Given the description of an element on the screen output the (x, y) to click on. 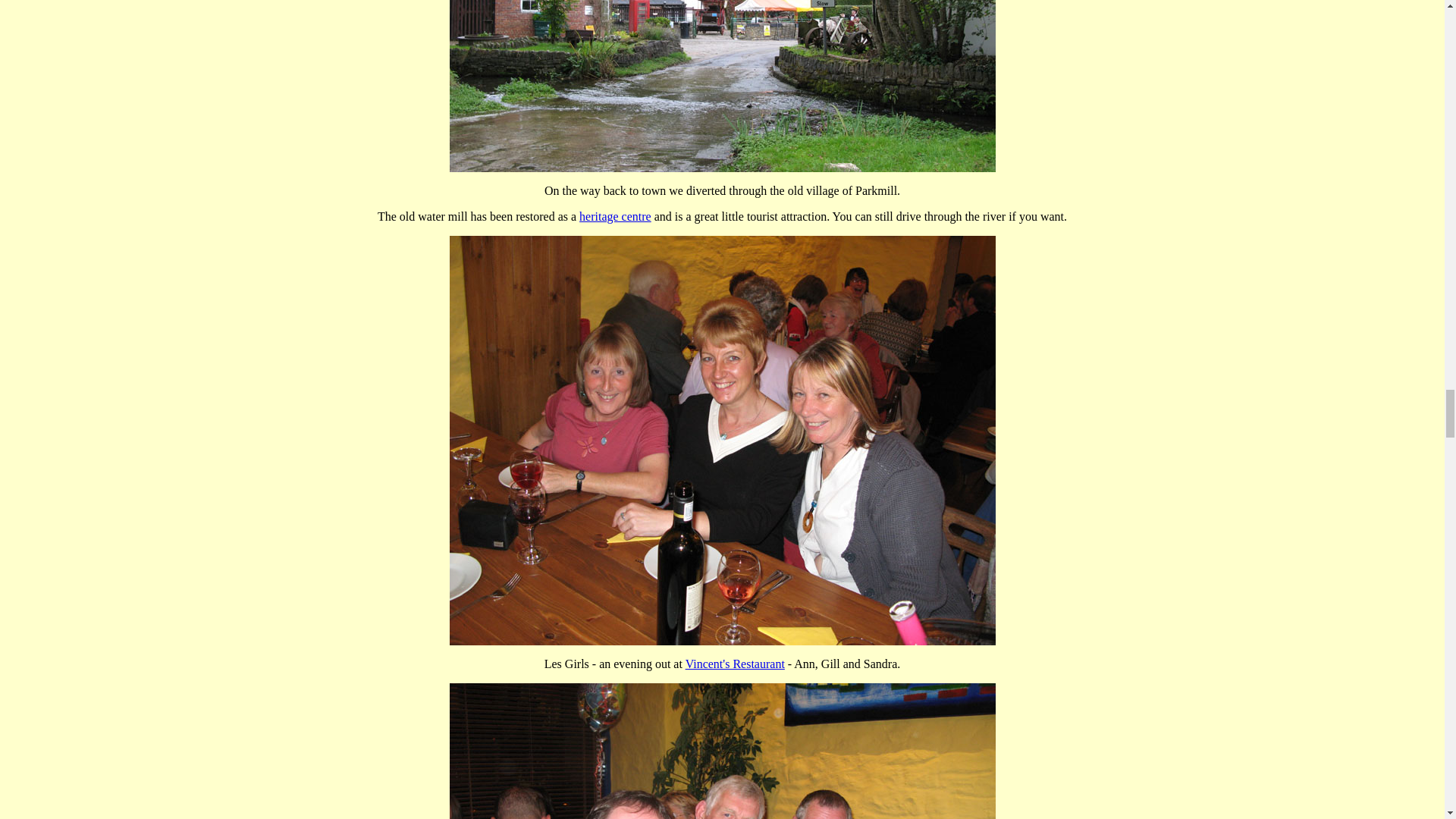
Vincent's Restaurant (734, 663)
heritage centre (614, 215)
